Given the description of an element on the screen output the (x, y) to click on. 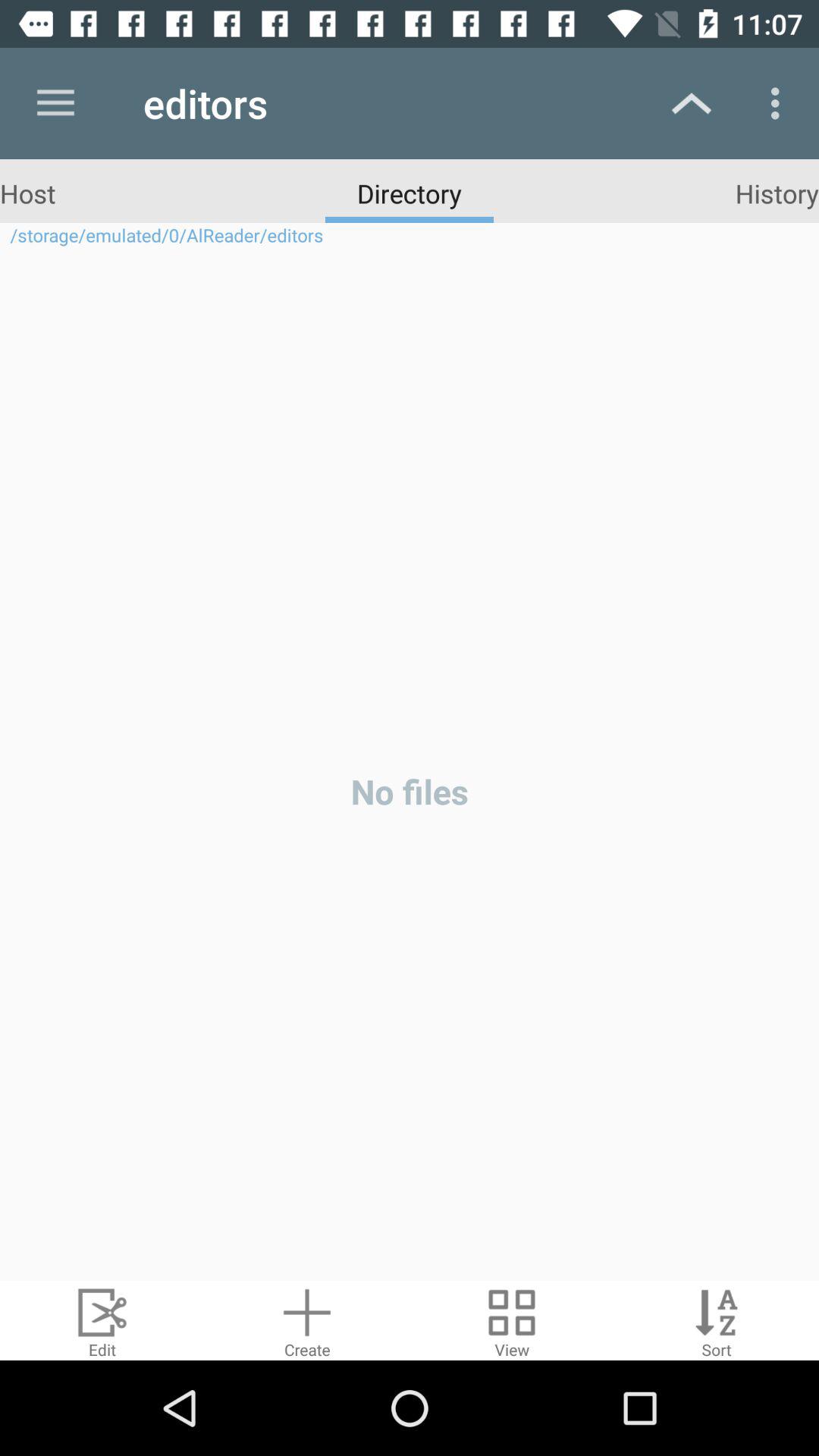
turn off icon above history (779, 103)
